Given the description of an element on the screen output the (x, y) to click on. 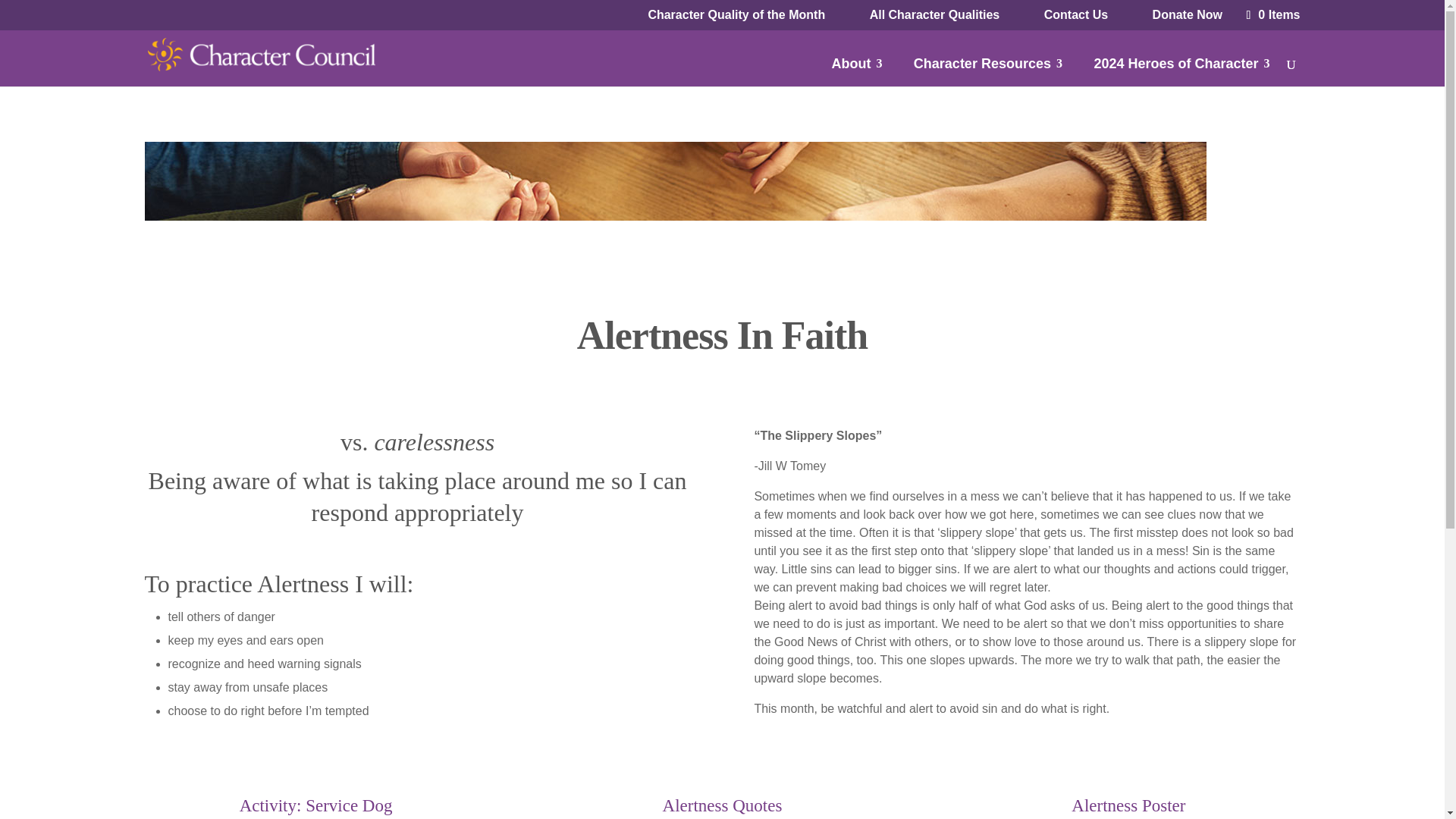
Alertness Poster (1128, 805)
Donate Now (1186, 15)
About (856, 70)
Character Quality of the Month (736, 15)
Character Resources (988, 70)
Activity: Service Dog (316, 805)
0 Items (1271, 14)
Contact Us (1075, 15)
2024 Heroes of Character (1181, 70)
All Character Qualities (934, 15)
